Given the description of an element on the screen output the (x, y) to click on. 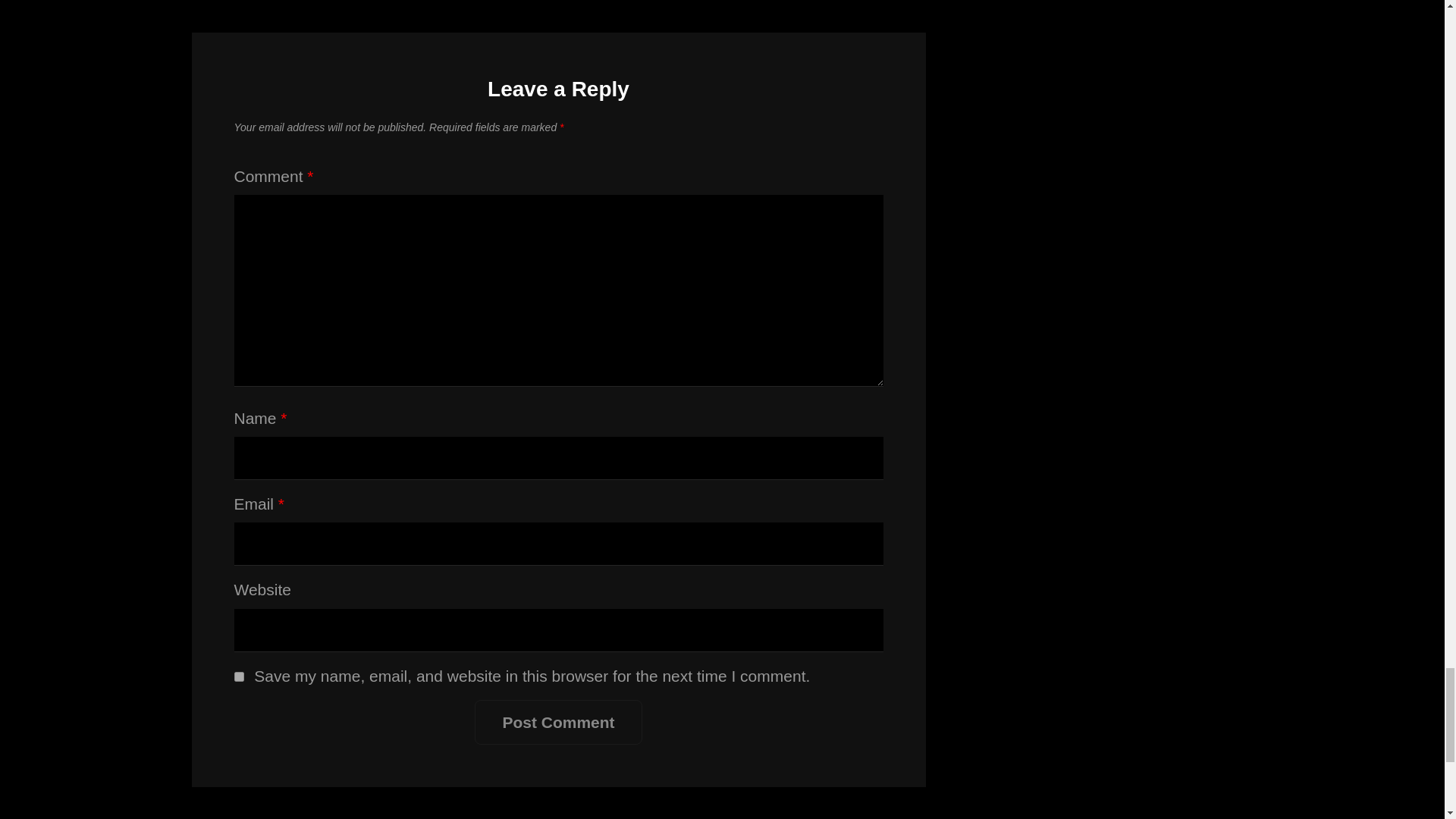
Post Comment (558, 722)
Post Comment (558, 722)
yes (237, 676)
